Given the description of an element on the screen output the (x, y) to click on. 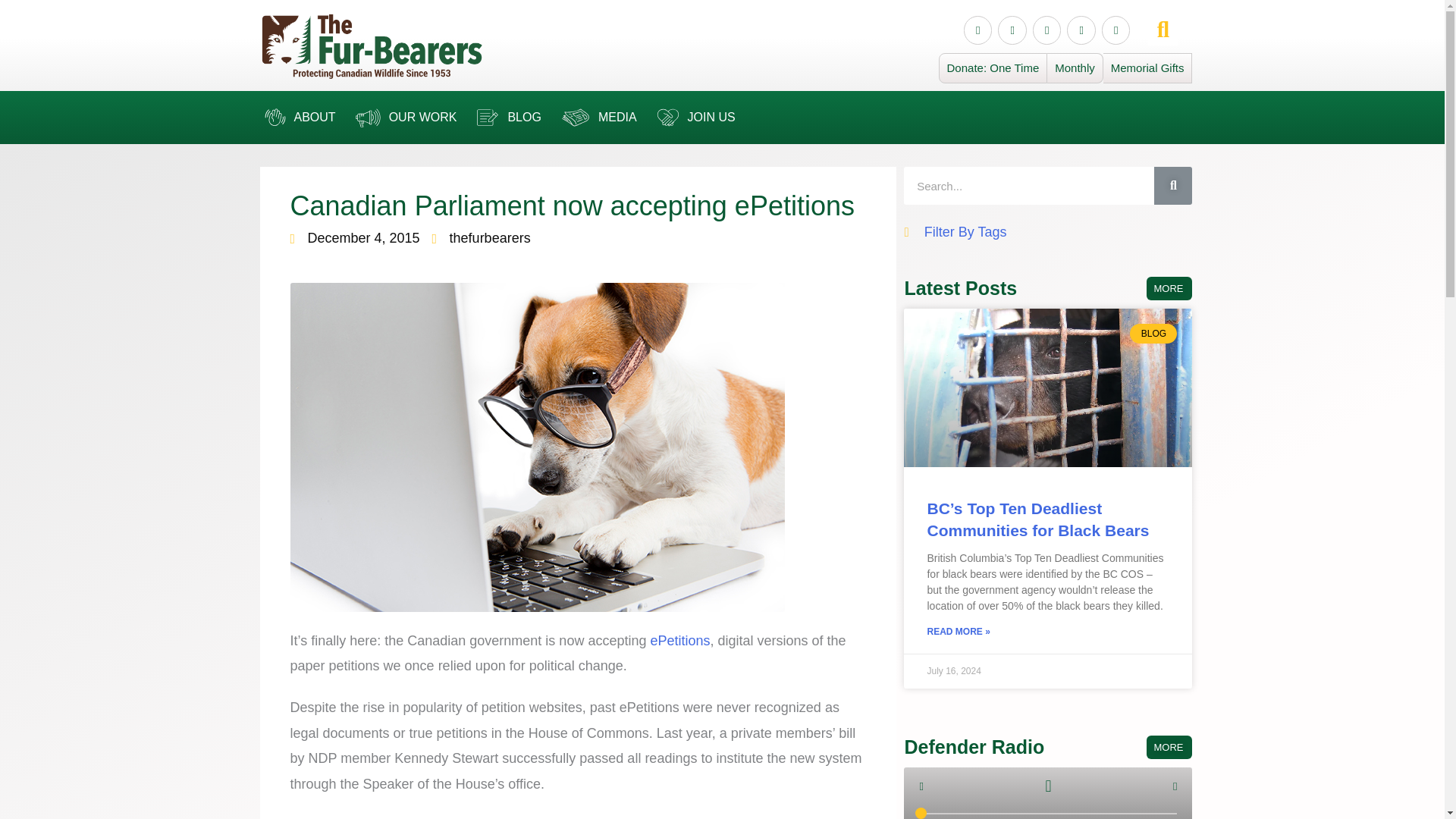
Search (1029, 185)
Donate: One Time (993, 68)
Monthly (1074, 68)
Search (1173, 185)
OUR WORK (403, 117)
Memorial Gifts (1147, 68)
ABOUT (296, 117)
